Given the description of an element on the screen output the (x, y) to click on. 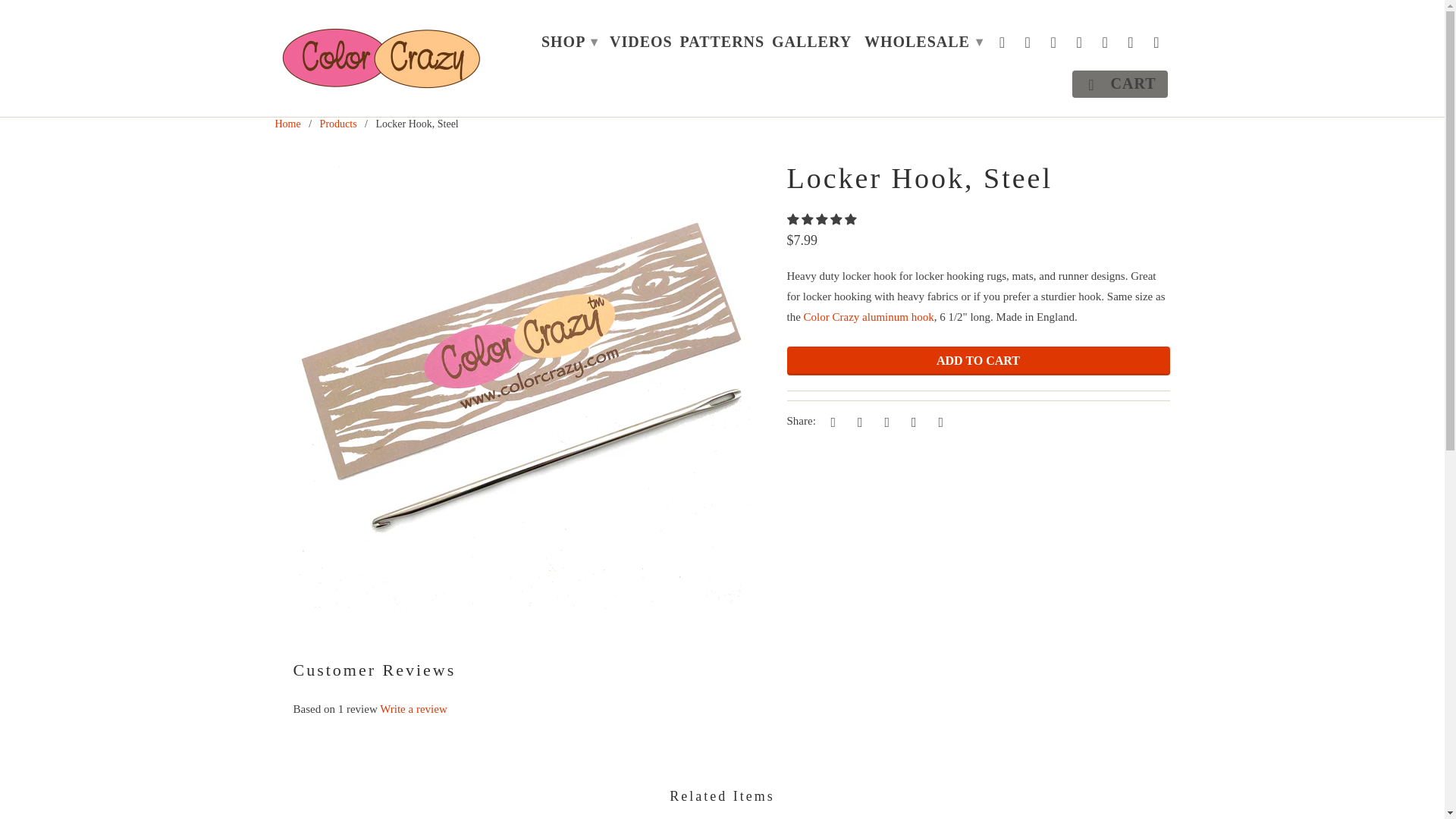
ADD TO CART (978, 360)
Share this on Facebook (857, 421)
Share this on Twitter (830, 421)
Email this to a friend (938, 421)
Color Crazy aluminum hook (868, 316)
Share this on Pinterest (884, 421)
Products (338, 123)
Home (287, 123)
Color Crazy Locker Hooking Tool Set (868, 316)
Color Crazy (287, 123)
Products (338, 123)
